Given the description of an element on the screen output the (x, y) to click on. 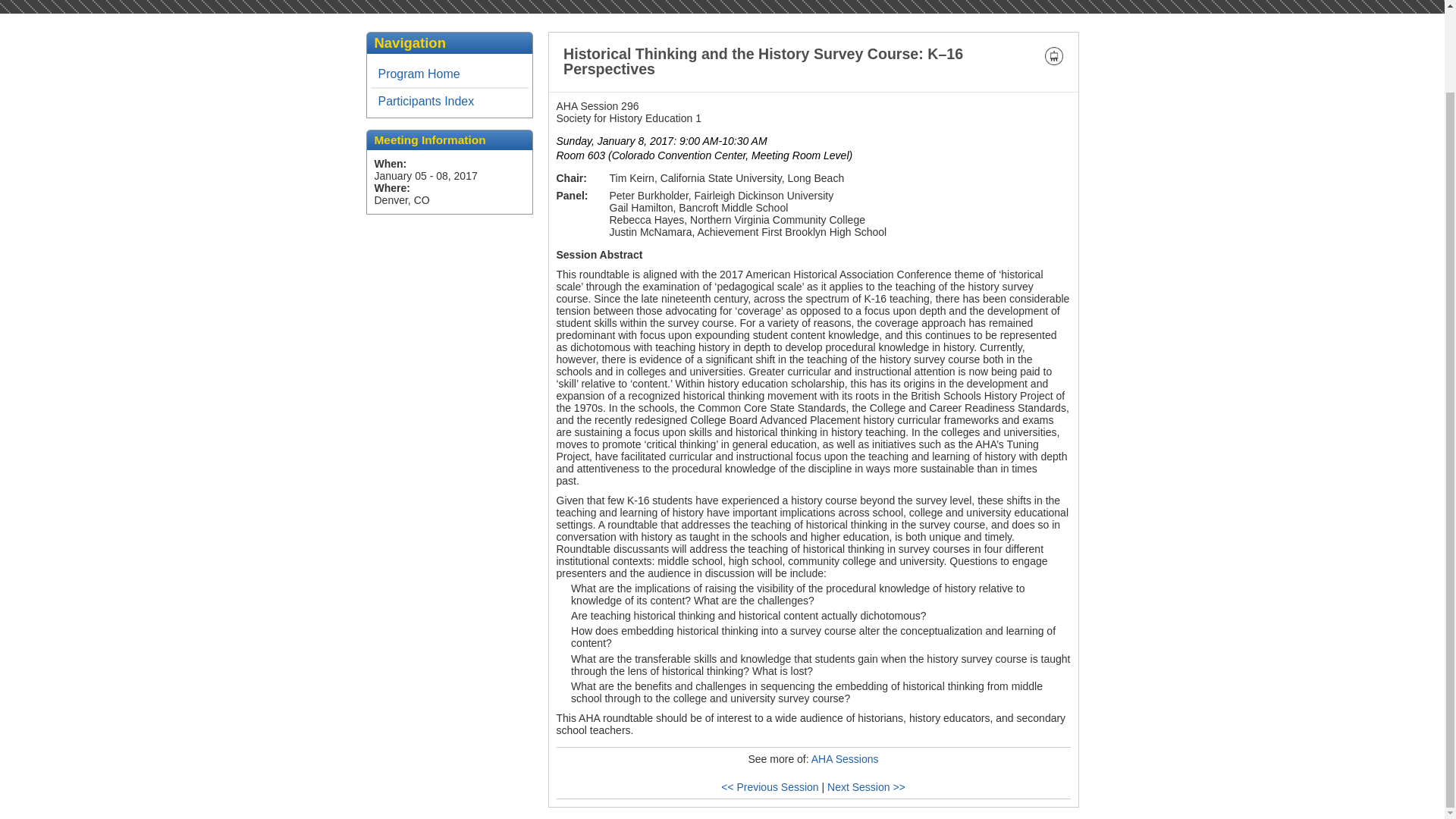
AHA Sessions (844, 758)
Teaching (1053, 55)
Program Home (448, 73)
Participants Index (448, 101)
